Given the description of an element on the screen output the (x, y) to click on. 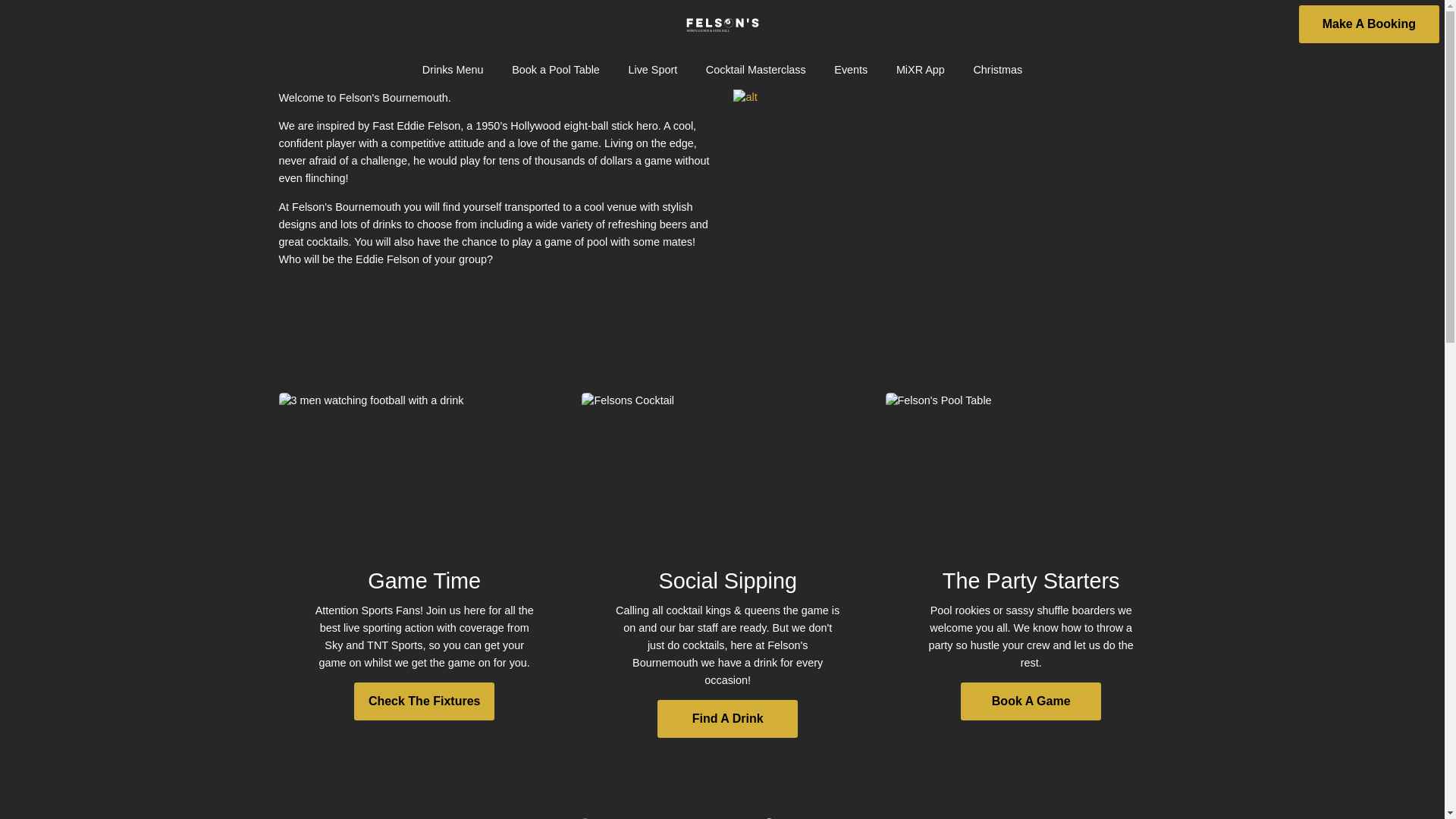
Book a Pool Table (555, 69)
Events (850, 69)
Felson's Bournemouth (722, 24)
3 men watching football with a drink (419, 463)
Christmas (997, 69)
Felsons Cocktail (720, 463)
Felson's Pool Table (1025, 463)
Make A Booking (1368, 23)
Cocktail Masterclass (755, 69)
Live Sport (652, 69)
MiXR App (920, 69)
Drinks Menu (452, 69)
